Given the description of an element on the screen output the (x, y) to click on. 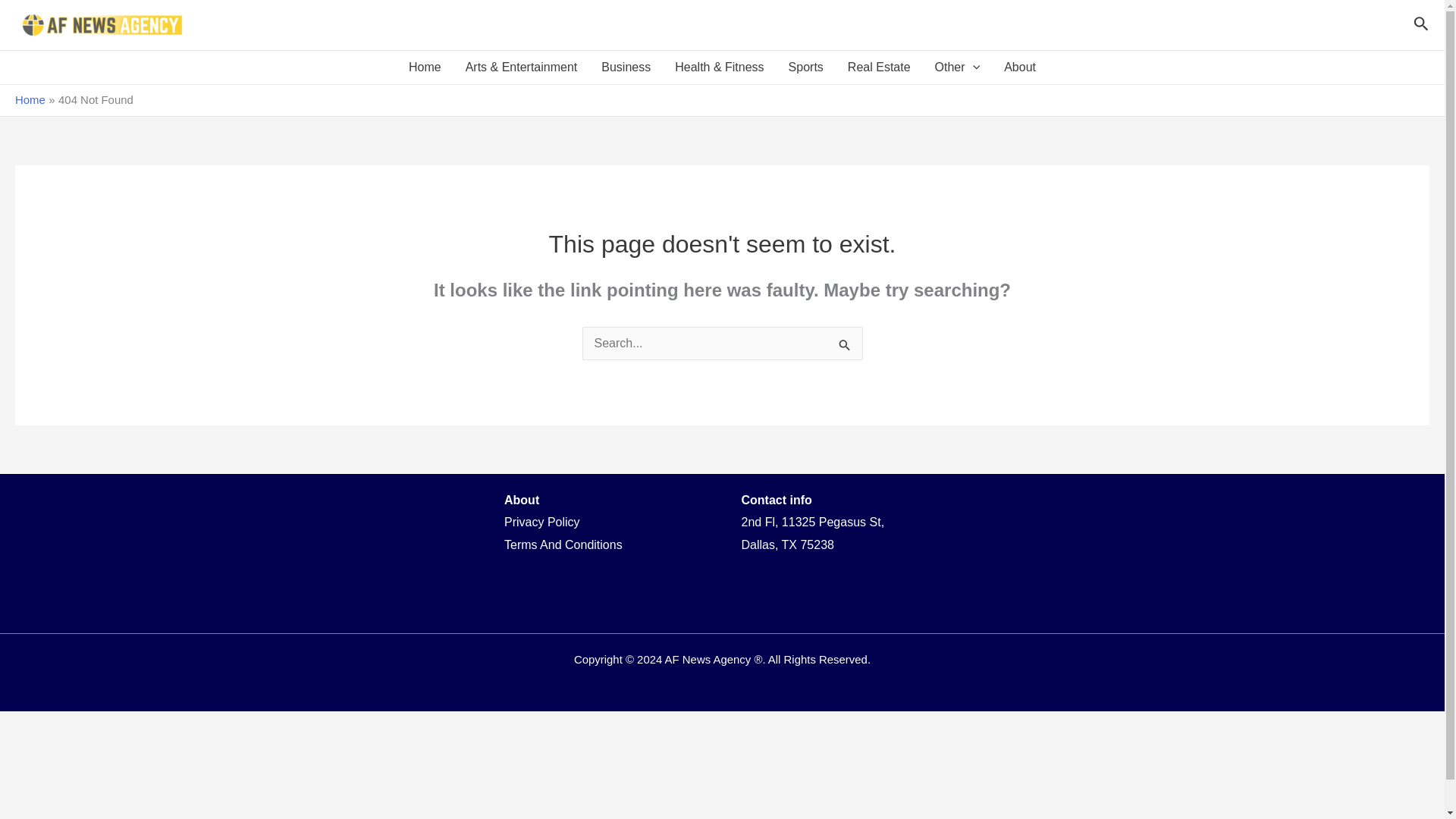
Real Estate (879, 67)
Sports (805, 67)
Business (625, 67)
About (1019, 67)
Other (957, 67)
Home (424, 67)
